Given the description of an element on the screen output the (x, y) to click on. 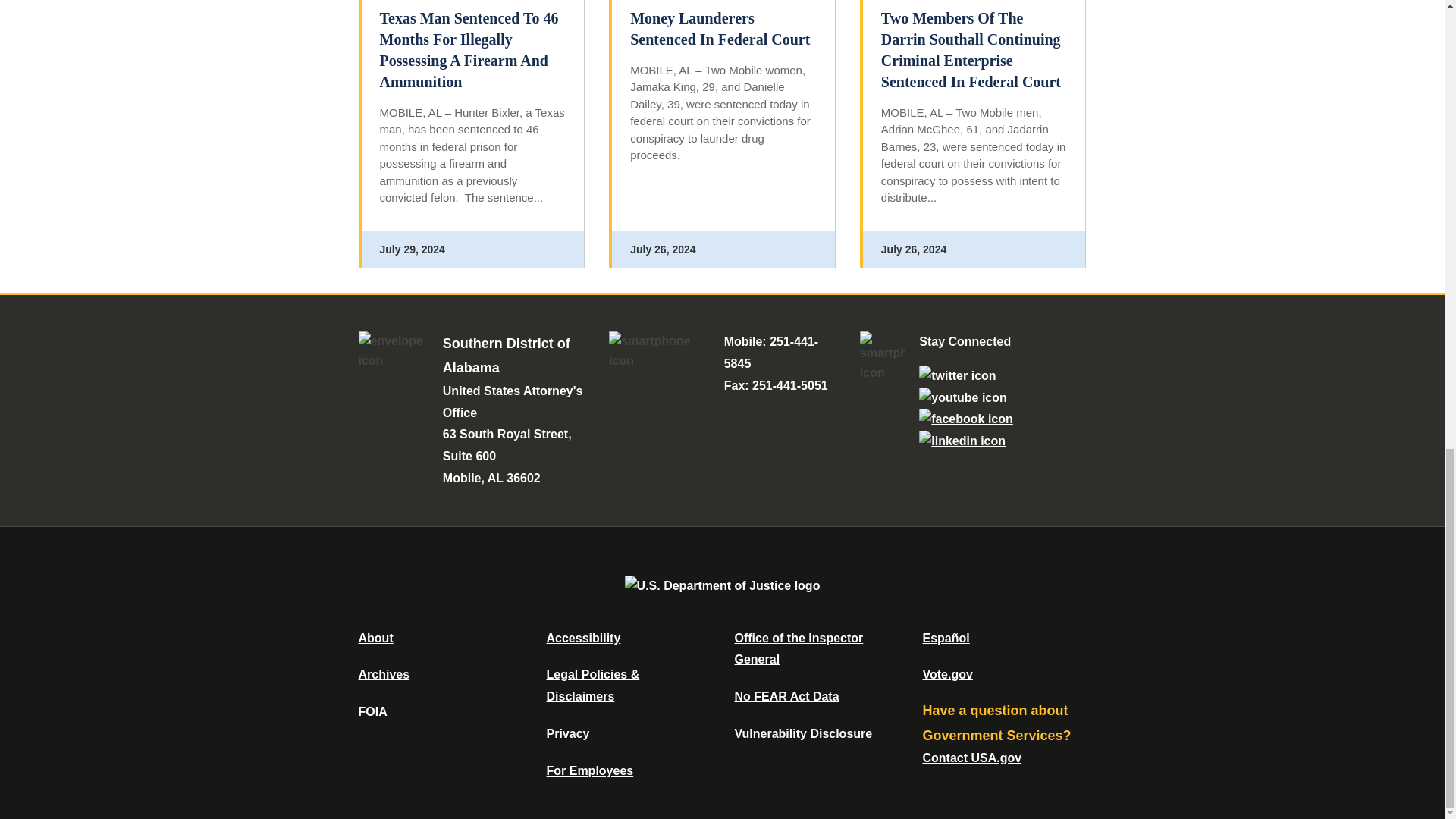
About DOJ (375, 637)
Data Posted Pursuant To The No Fear Act (785, 696)
For Employees (589, 770)
Office of Information Policy (372, 711)
Accessibility Statement (583, 637)
Department of Justice Archive (383, 674)
Legal Policies and Disclaimers (592, 685)
